Given the description of an element on the screen output the (x, y) to click on. 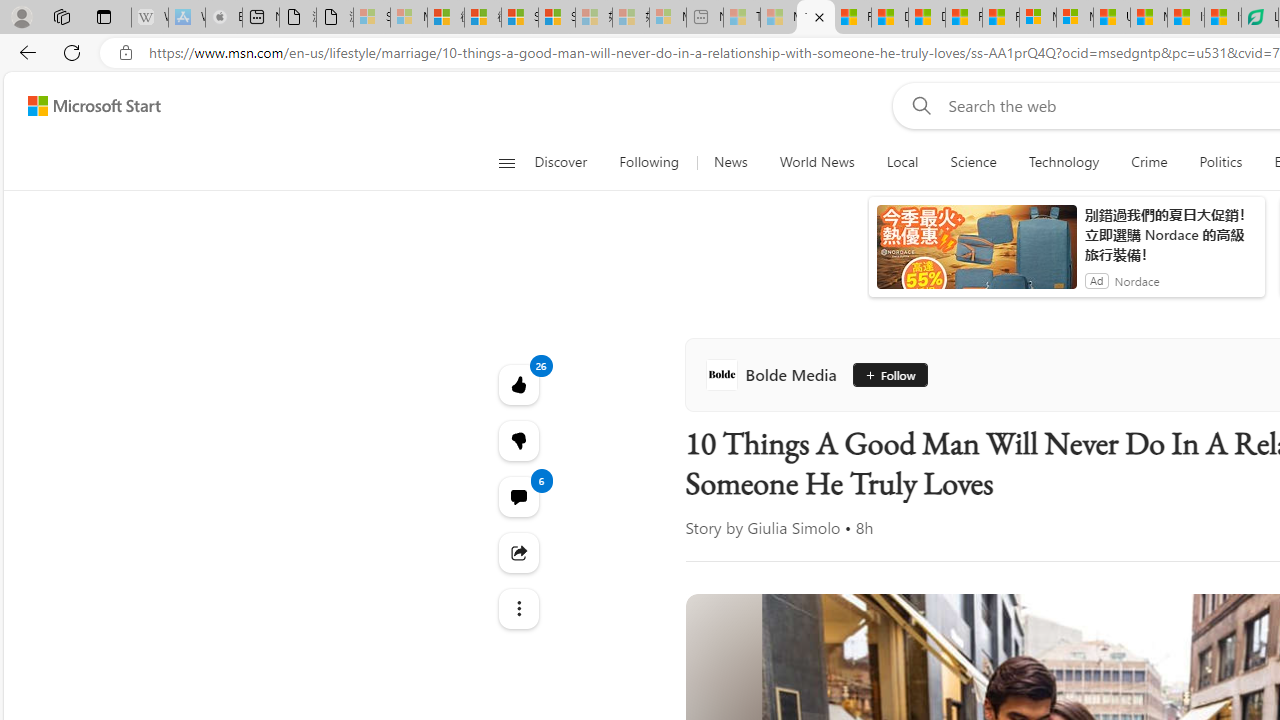
View comments 6 Comment (517, 496)
Local (902, 162)
Politics (1220, 162)
Buy iPad - Apple - Sleeping (223, 17)
New tab - Sleeping (705, 17)
Crime (1149, 162)
Microsoft Services Agreement - Sleeping (408, 17)
Share this story (517, 552)
Follow (882, 374)
World News (816, 162)
Technology (1063, 162)
